Given the description of an element on the screen output the (x, y) to click on. 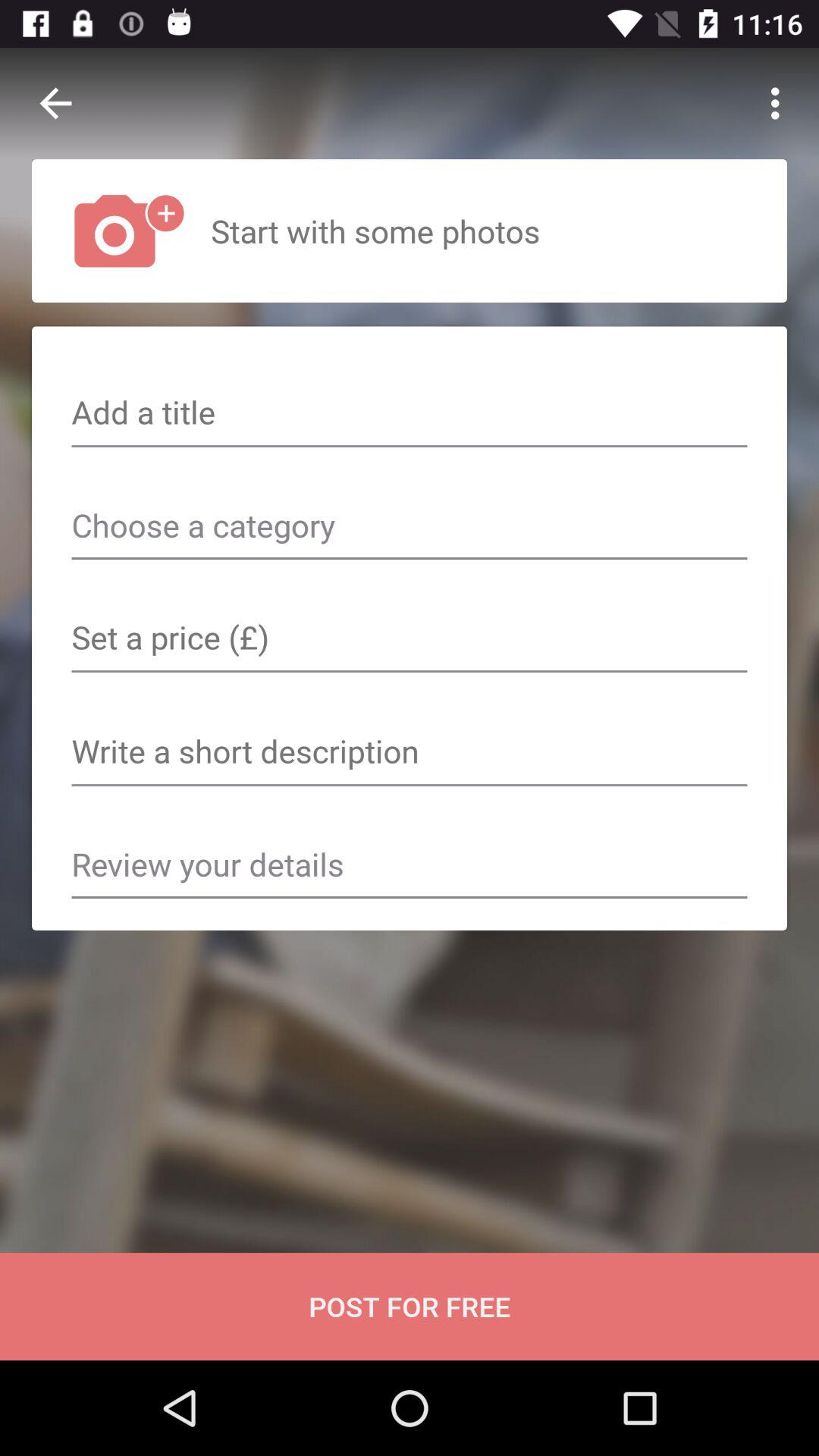
enter chosen price (409, 639)
